Given the description of an element on the screen output the (x, y) to click on. 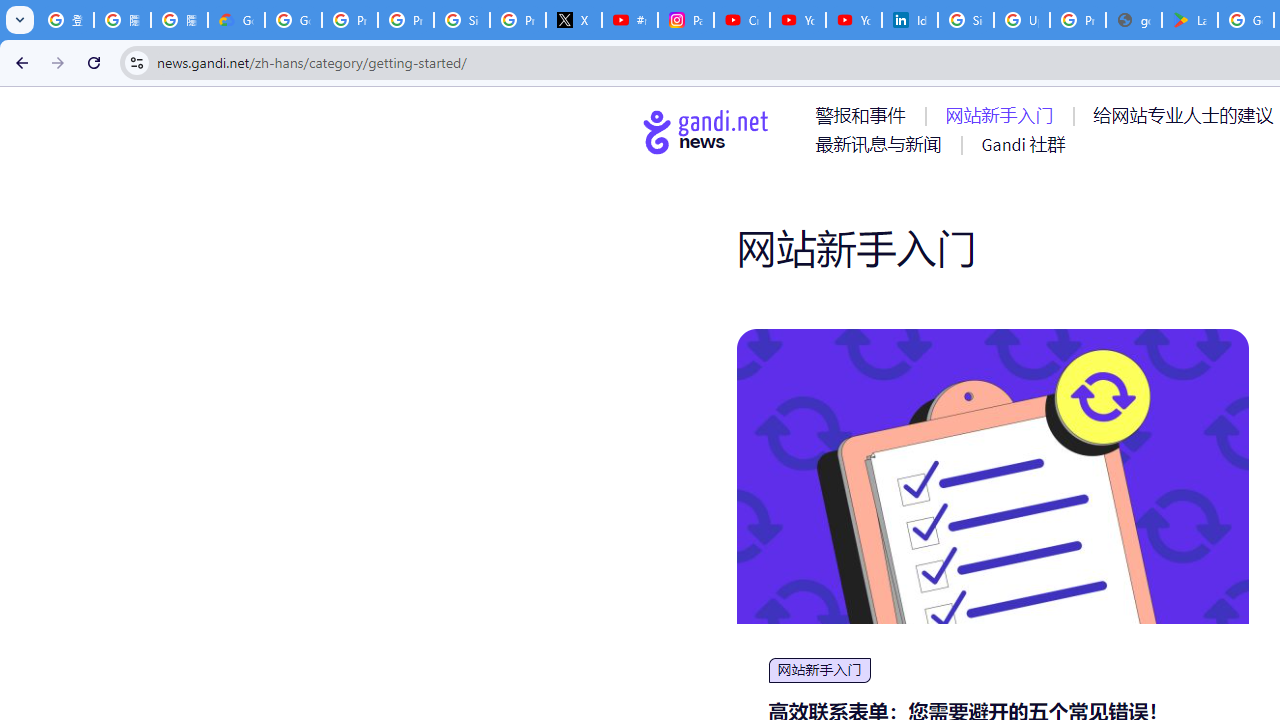
google_privacy_policy_en.pdf (1133, 20)
AutomationID: menu-item-77762 (1003, 115)
Last Shelter: Survival - Apps on Google Play (1190, 20)
Sign in - Google Accounts (966, 20)
Privacy Help Center - Policies Help (349, 20)
YouTube Culture & Trends - YouTube Top 10, 2021 (853, 20)
Privacy Help Center - Policies Help (405, 20)
